Given the description of an element on the screen output the (x, y) to click on. 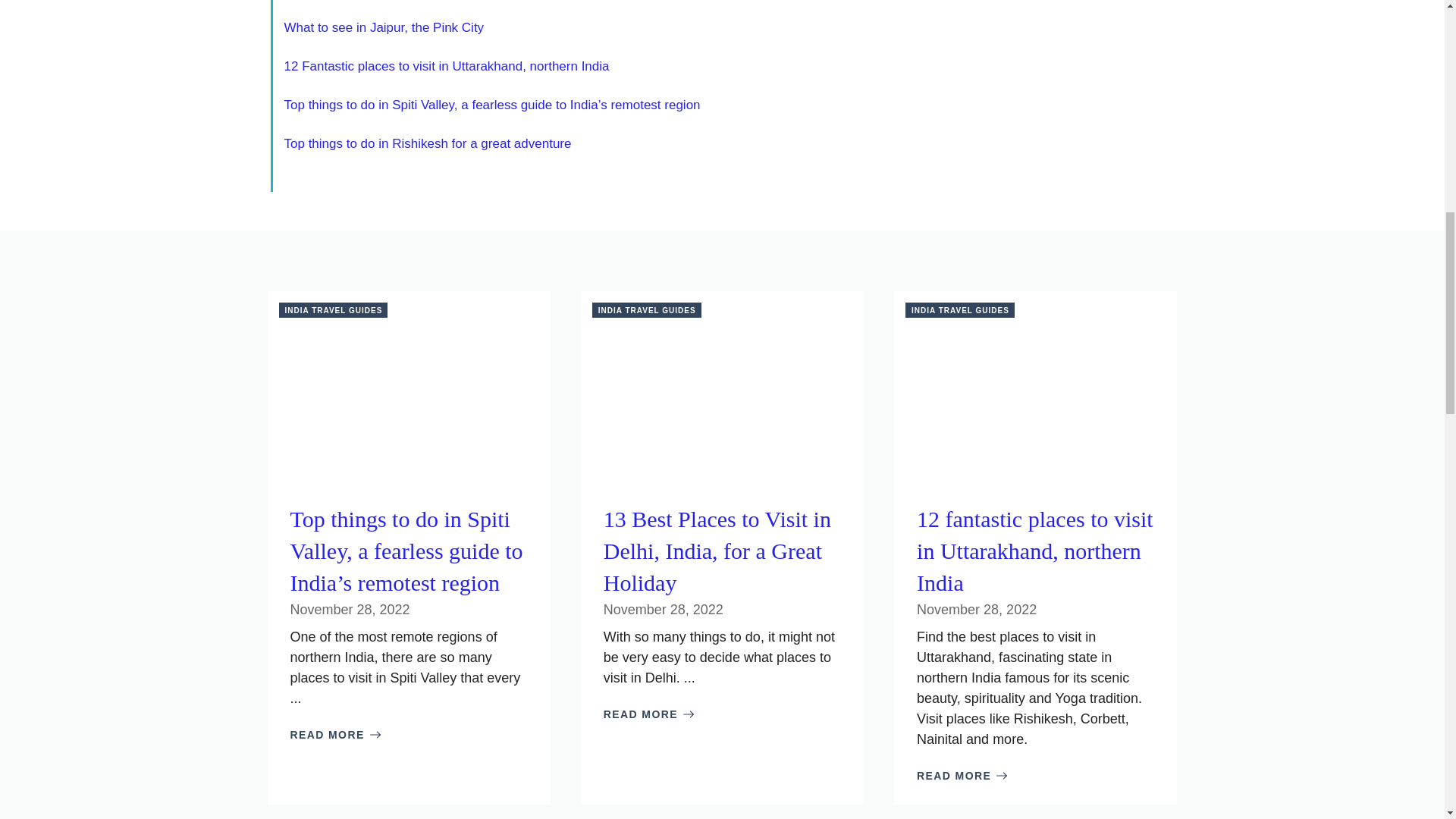
INDIA TRAVEL GUIDES (333, 309)
INDIA TRAVEL GUIDES (646, 309)
READ MORE (649, 714)
READ MORE (334, 734)
13 Best Places to Visit in Delhi, India, for a Great Holiday (717, 550)
Top things to do in Rishikesh for a great adventure (426, 143)
12 Fantastic places to visit in Uttarakhand, northern India (445, 65)
What to see in Jaipur, the Pink City (383, 27)
12 fantastic places to visit in Uttarakhand, northern India (1035, 550)
READ MORE (962, 775)
